Given the description of an element on the screen output the (x, y) to click on. 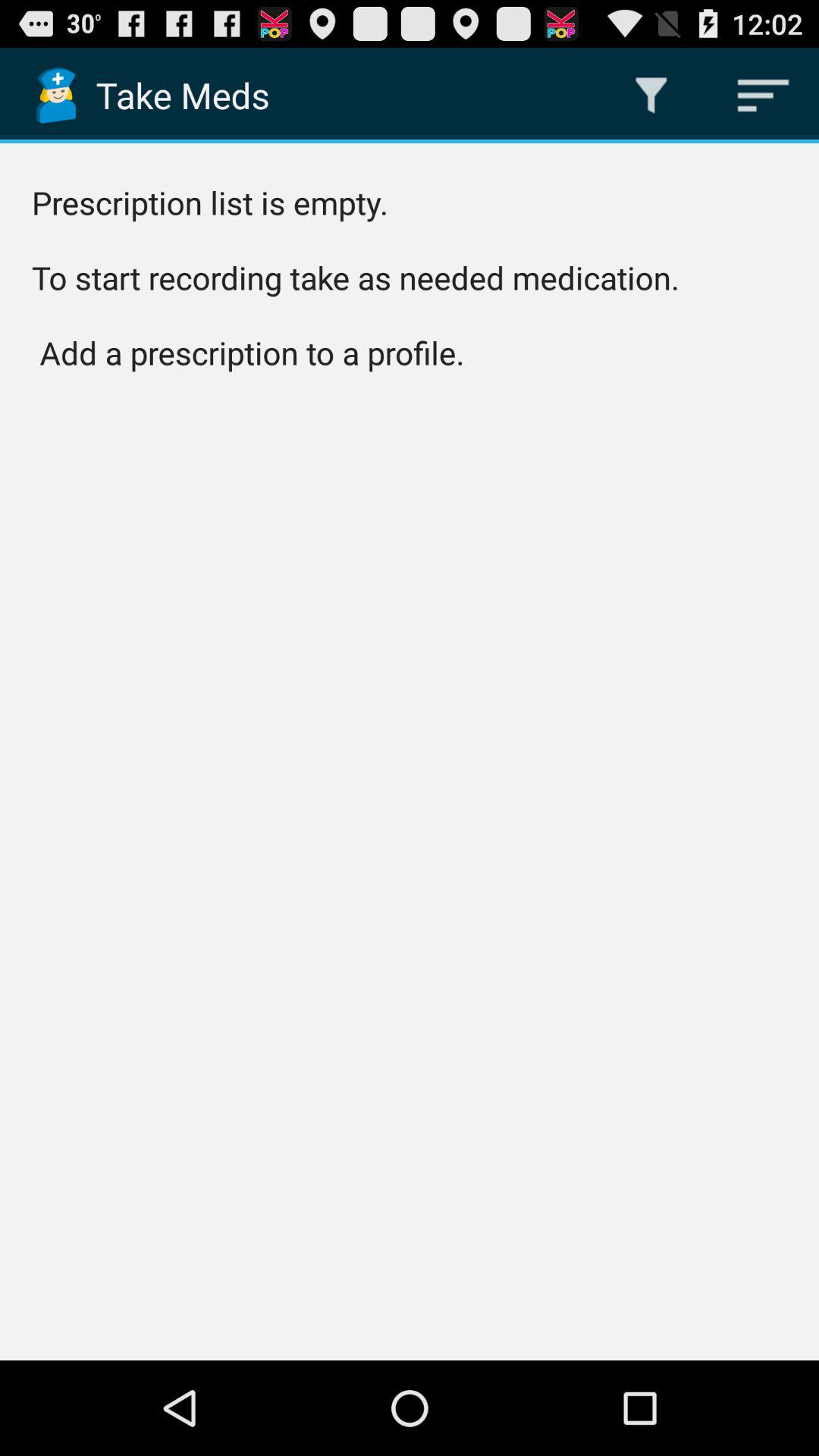
choose app next to the take meds (651, 95)
